Given the description of an element on the screen output the (x, y) to click on. 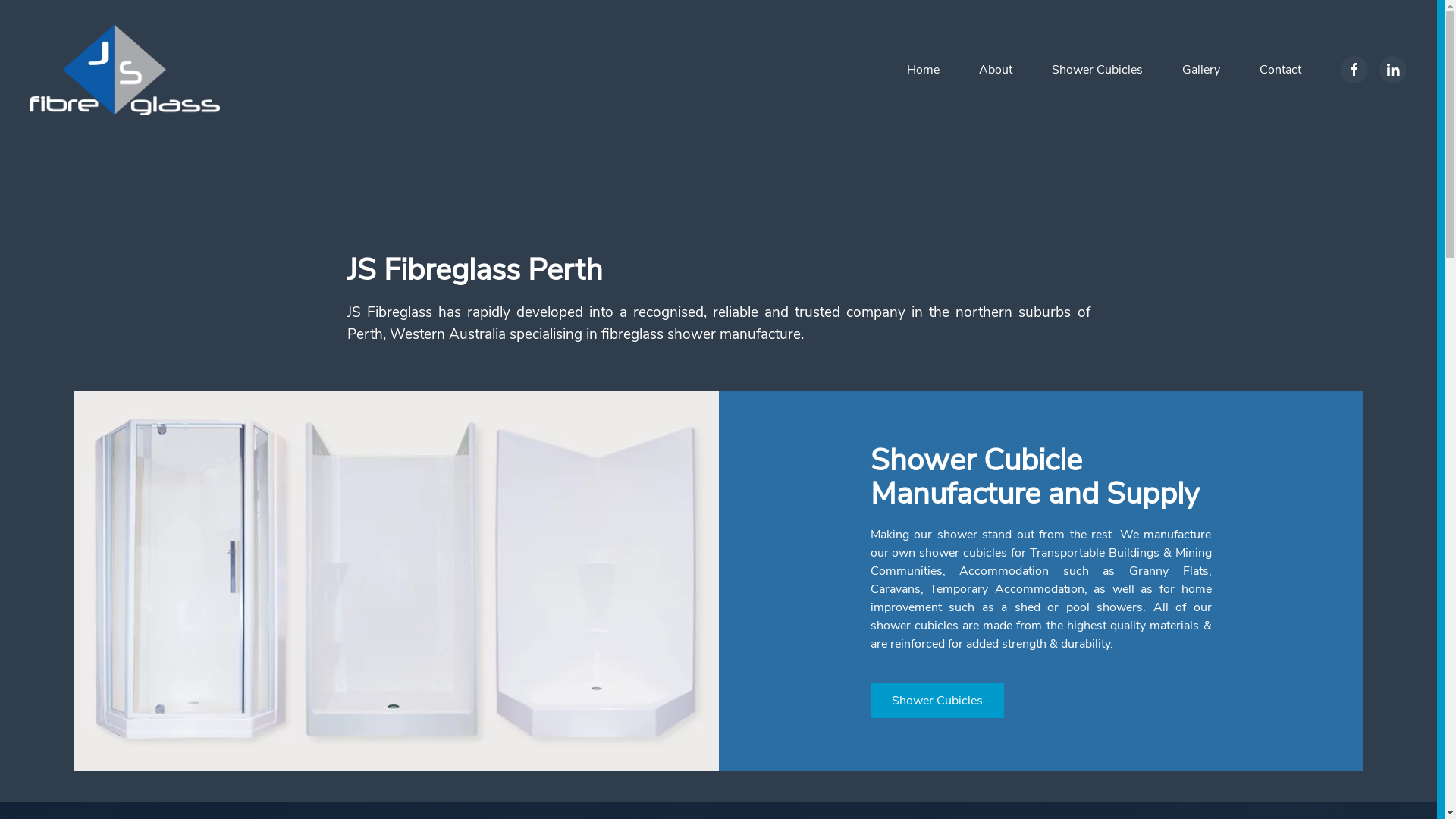
Gallery Element type: text (1200, 69)
Home Element type: text (923, 69)
Shower Cubicles Element type: text (1097, 69)
Shower Cubicles Element type: text (937, 700)
Contact Element type: text (1280, 69)
About Element type: text (995, 69)
